Given the description of an element on the screen output the (x, y) to click on. 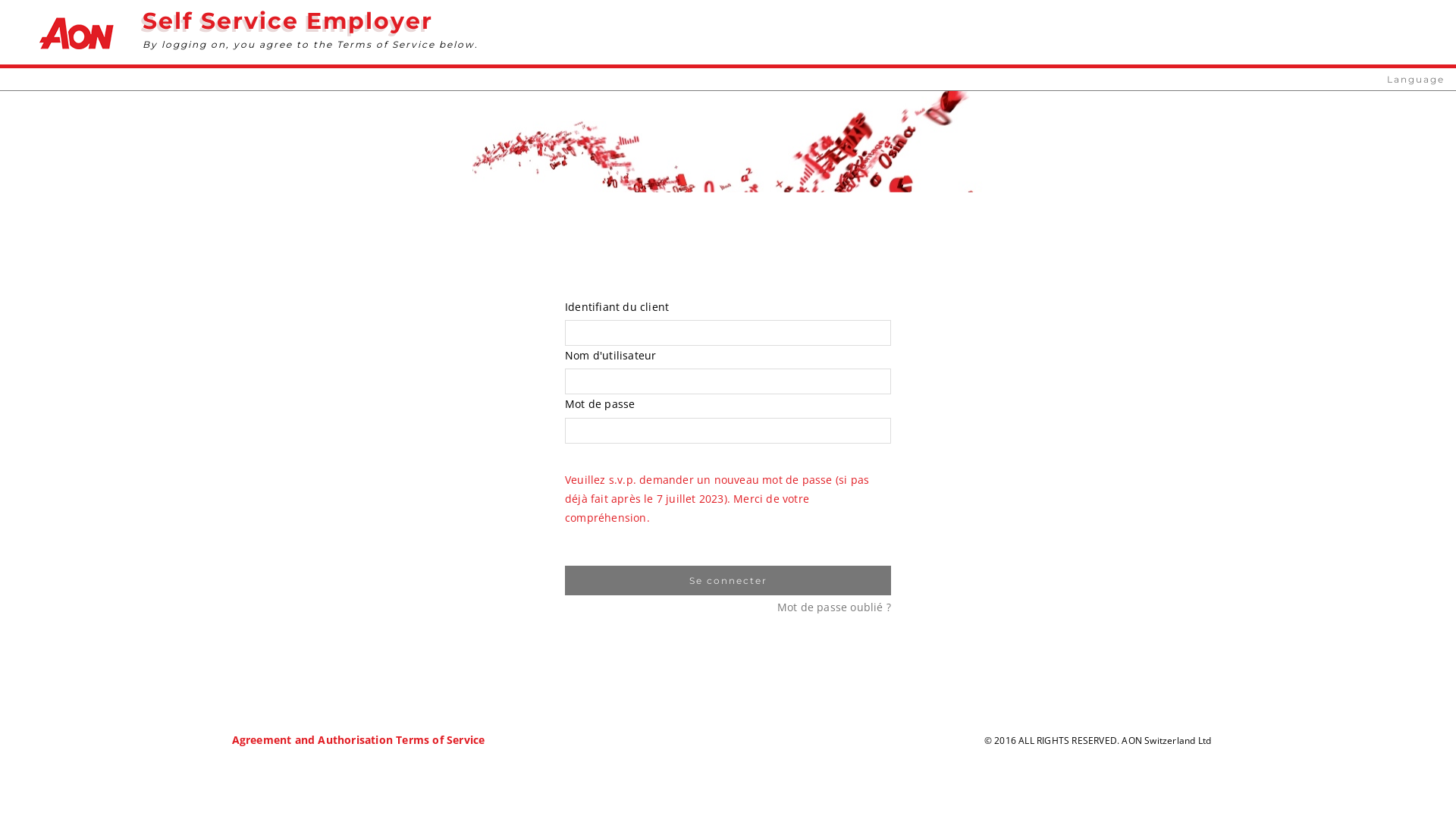
Agreement and Authorisation Terms of Service Element type: text (358, 739)
Se connecter Element type: text (727, 580)
